Given the description of an element on the screen output the (x, y) to click on. 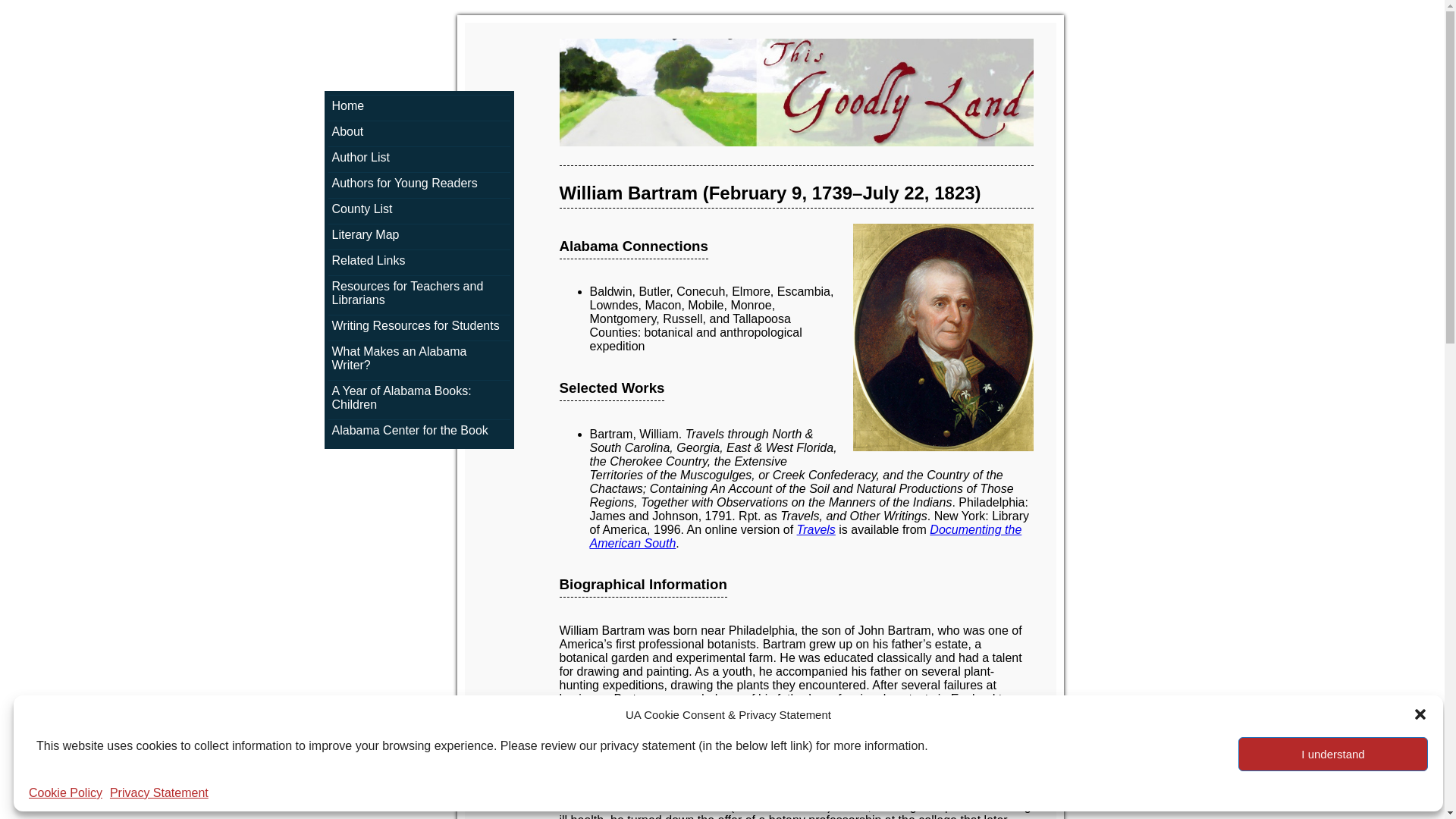
About (418, 131)
A Year of Alabama Books: Children (418, 397)
Home (418, 106)
What Makes an Alabama Writer? (418, 358)
County List (418, 209)
Travels (815, 529)
I understand (1333, 754)
Author List (418, 157)
Cookie Policy (65, 793)
Alabama Center for the Book (418, 430)
Resources for Teachers and Librarians (418, 293)
Authors for Young Readers (418, 183)
Related Links (418, 260)
Writing Resources for Students (418, 325)
Literary Map (418, 234)
